Given the description of an element on the screen output the (x, y) to click on. 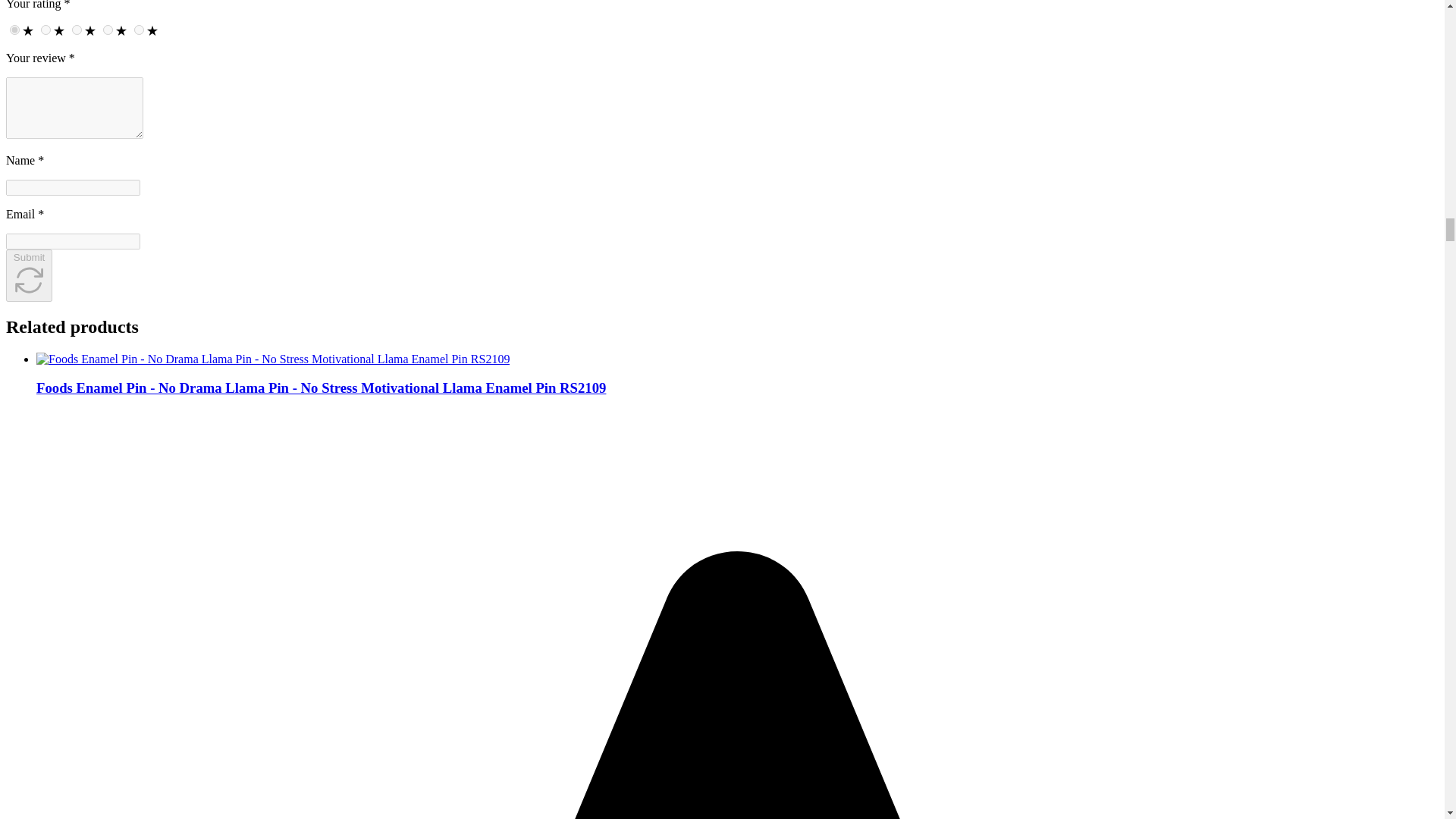
5 sao (27, 30)
4 sao (58, 30)
3 (76, 30)
3 sao (90, 30)
5 (15, 30)
1 (138, 30)
2 sao (121, 30)
1 sao (152, 30)
2 (108, 30)
